Given the description of an element on the screen output the (x, y) to click on. 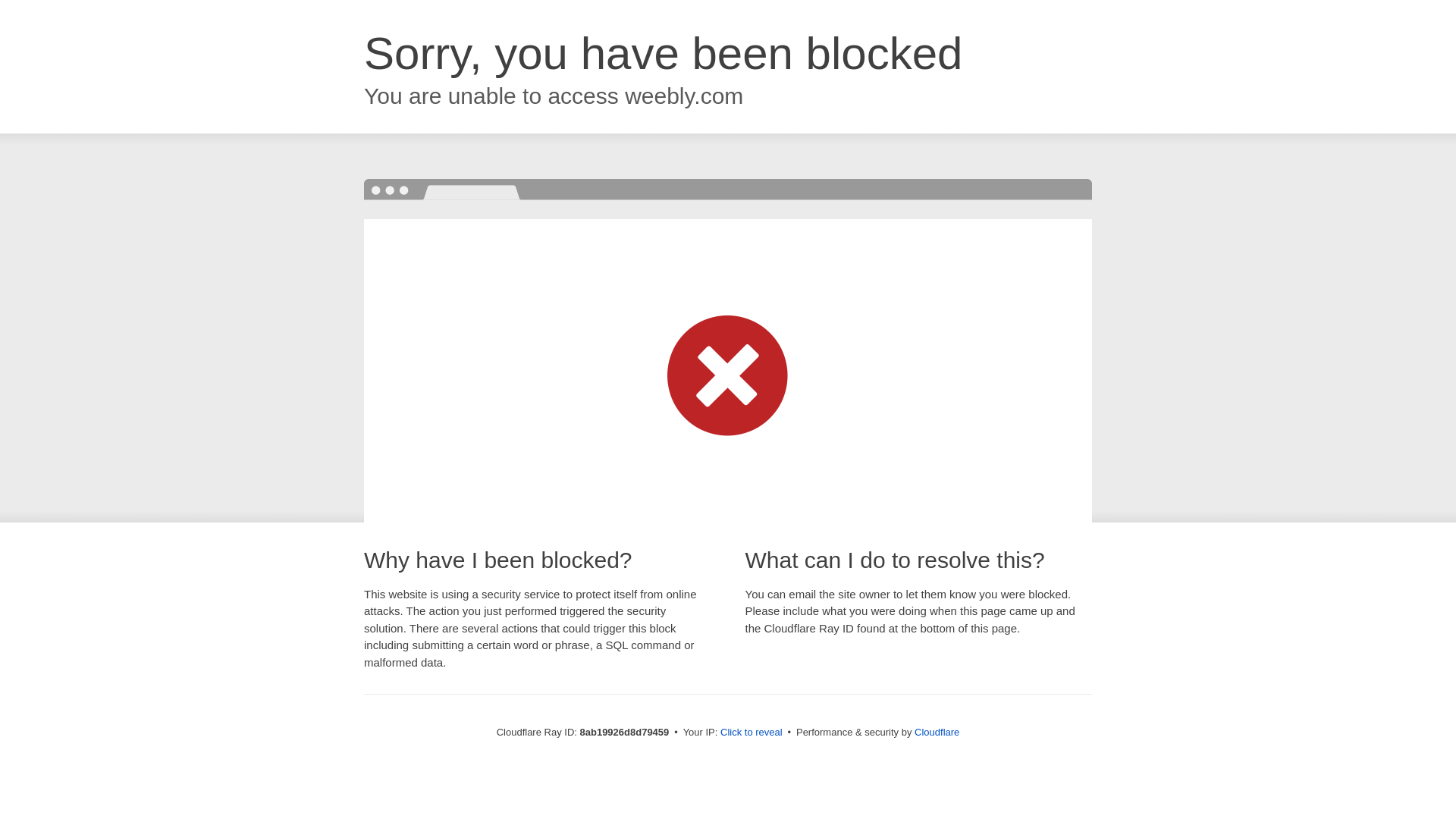
Cloudflare (936, 731)
Click to reveal (751, 732)
